Given the description of an element on the screen output the (x, y) to click on. 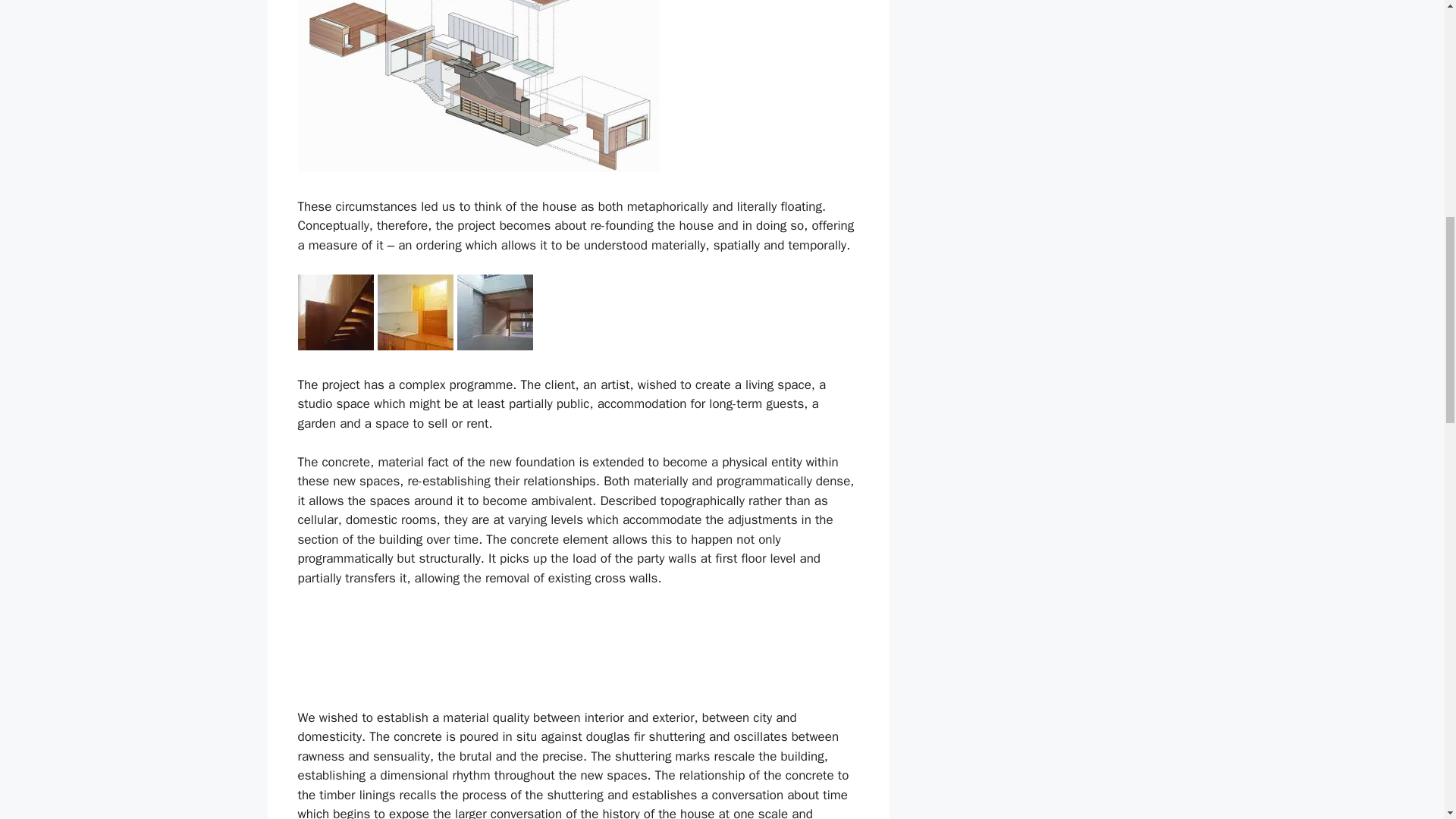
Scroll back to top (1406, 720)
